Given the description of an element on the screen output the (x, y) to click on. 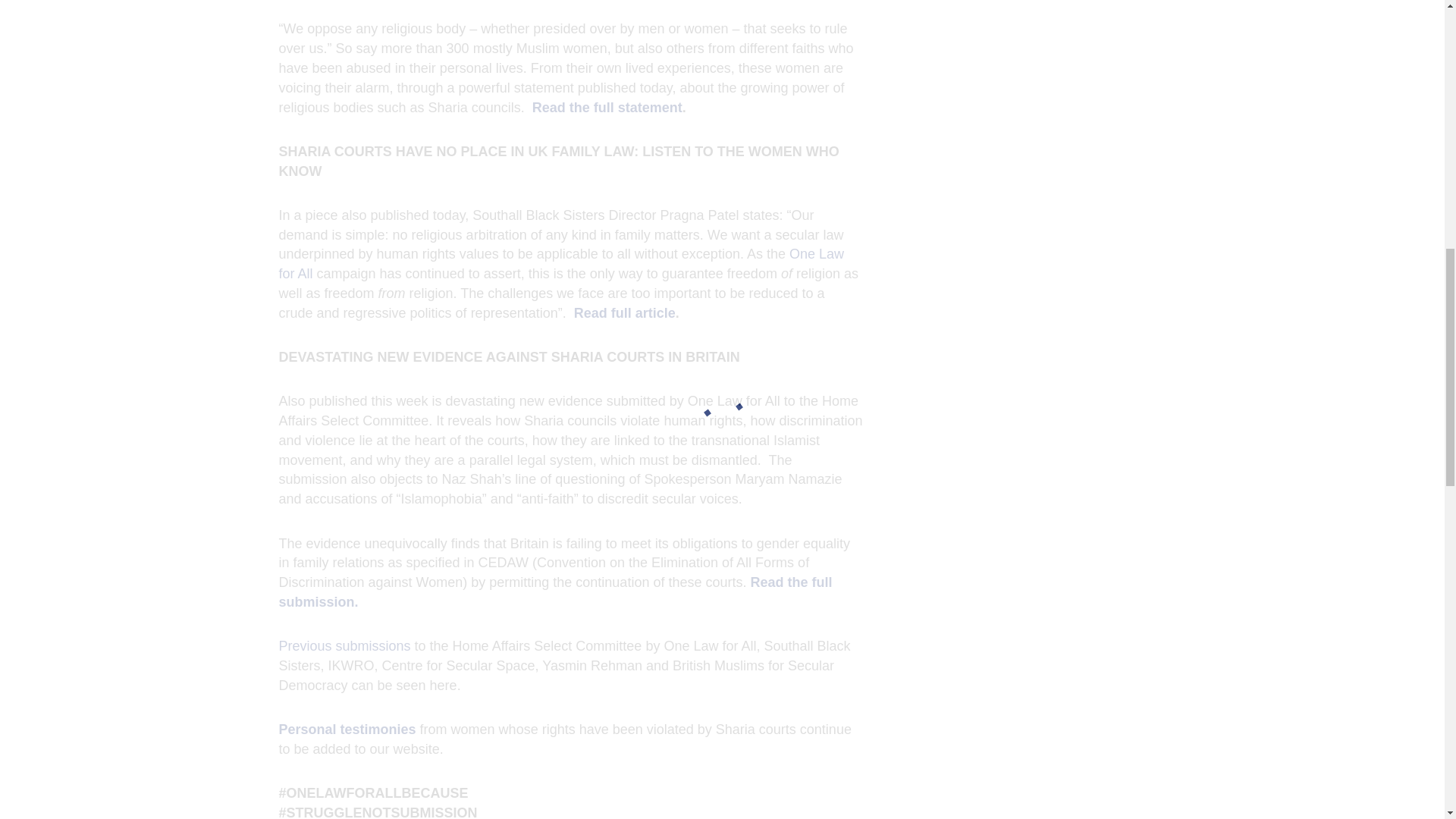
Read the full statement (607, 107)
One Law for All (561, 263)
Read full article (624, 313)
